Given the description of an element on the screen output the (x, y) to click on. 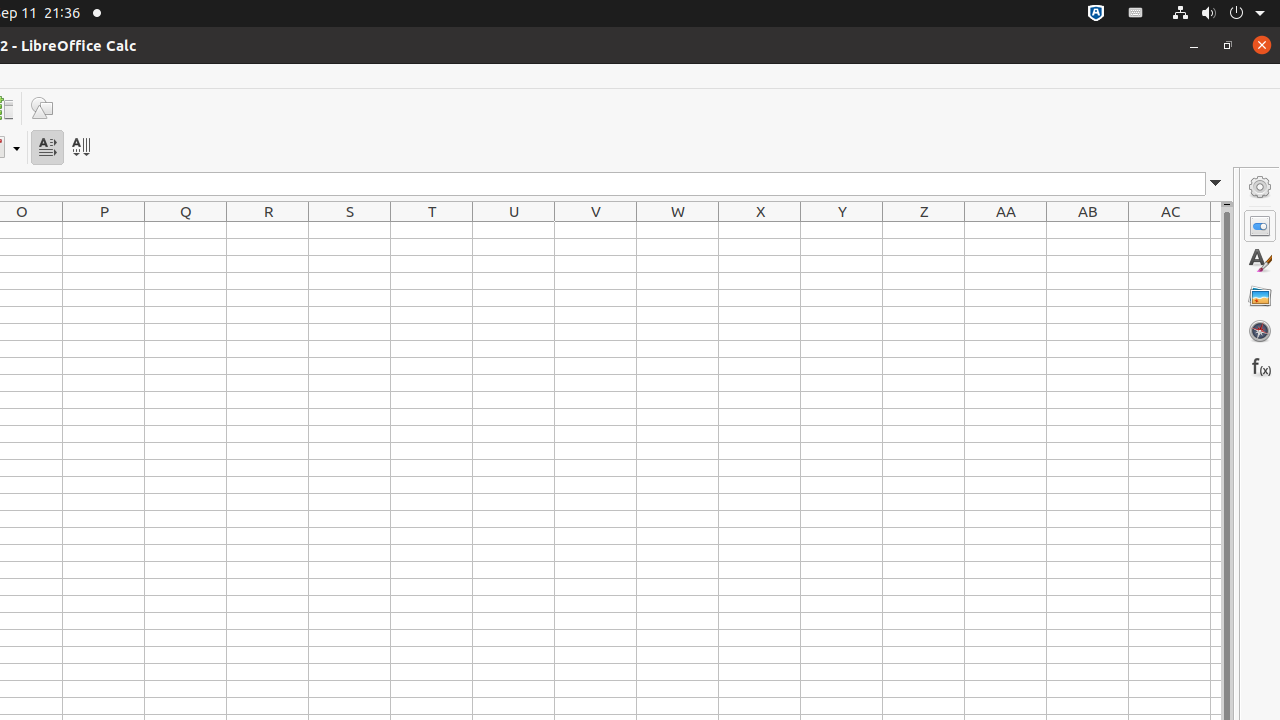
W1 Element type: table-cell (678, 230)
AC1 Element type: table-cell (1170, 230)
X1 Element type: table-cell (760, 230)
Navigator Element type: radio-button (1260, 331)
Z1 Element type: table-cell (924, 230)
